Given the description of an element on the screen output the (x, y) to click on. 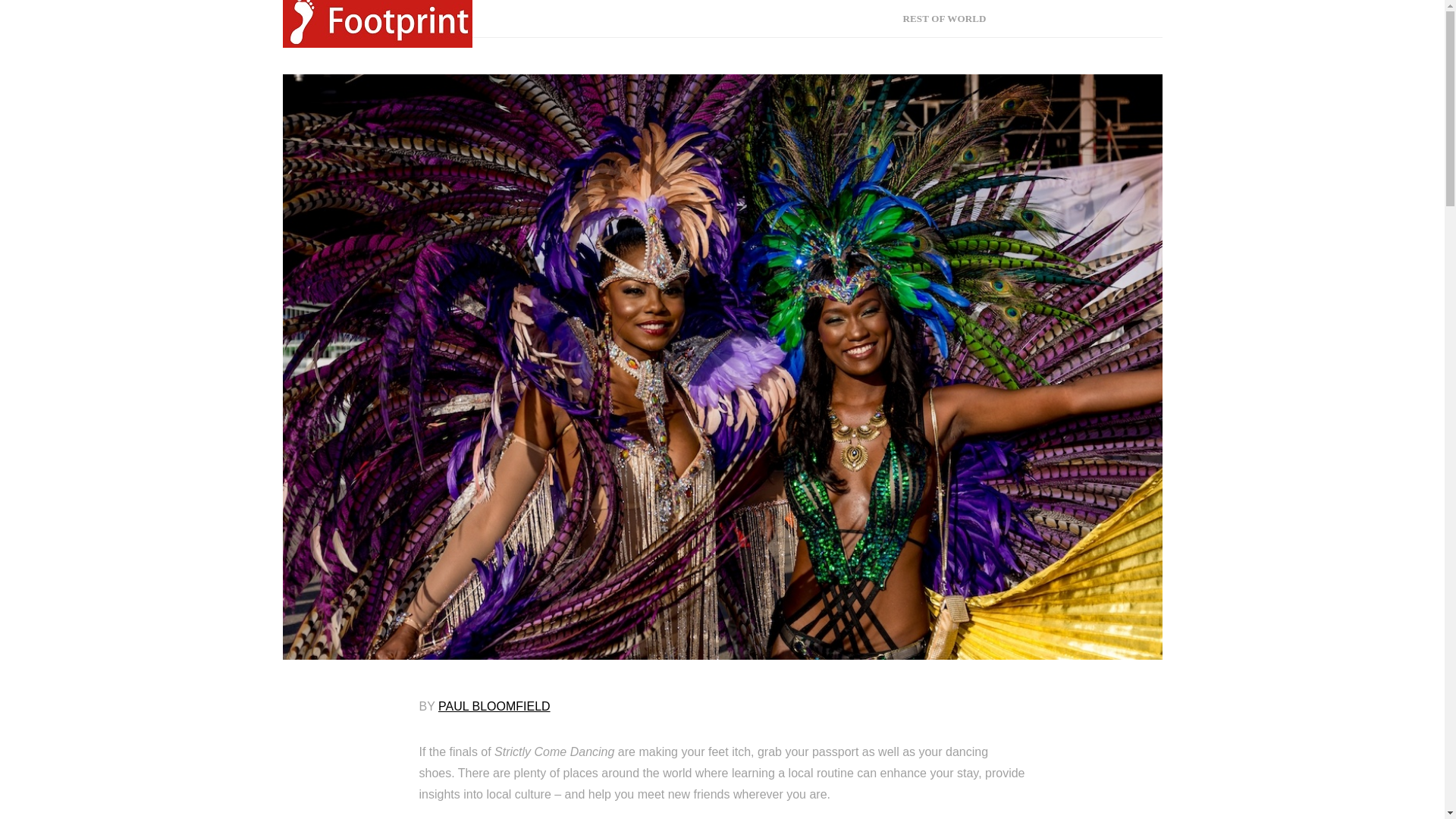
BRITISH ISLES (745, 18)
EUROPE (663, 18)
PAUL BLOOMFIELD (494, 706)
REST OF WORLD (943, 18)
AUSTRALASIA (841, 18)
